Given the description of an element on the screen output the (x, y) to click on. 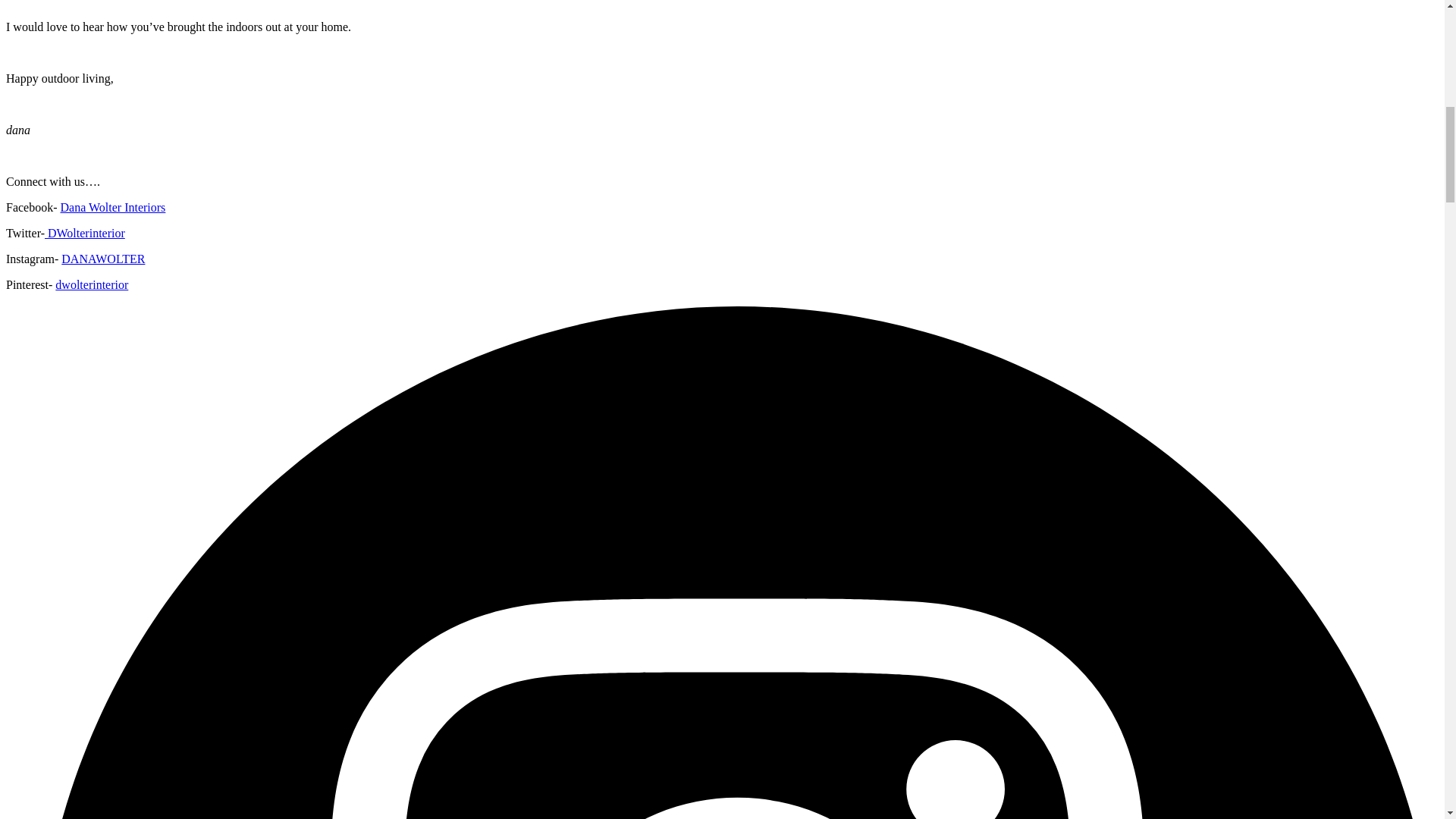
Dana Wolter Interiors (113, 206)
 DWolterinterior (85, 232)
dwolterinterior (91, 284)
DANAWOLTER (102, 258)
